Given the description of an element on the screen output the (x, y) to click on. 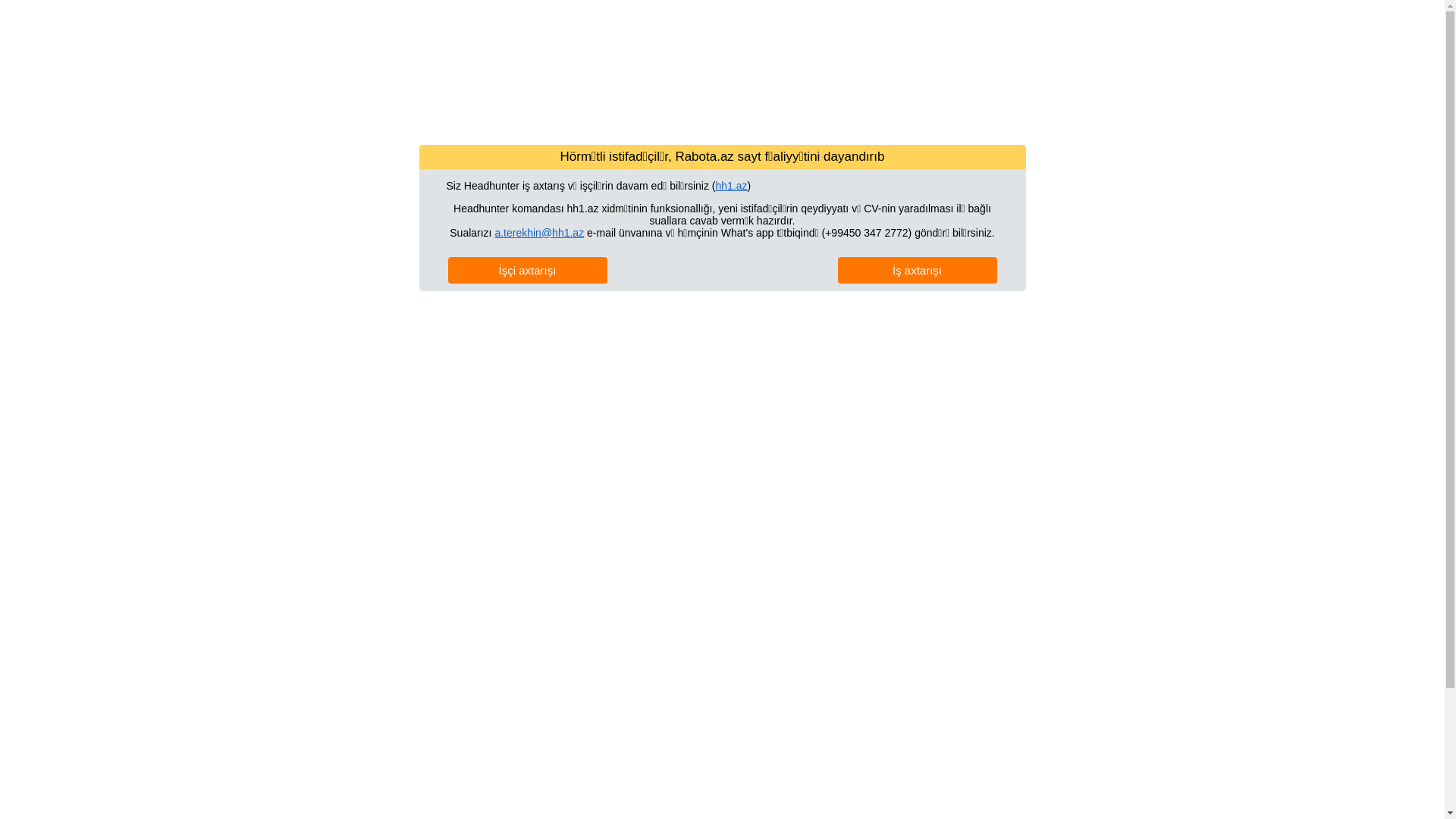
a.terekhin@hh1.az Element type: text (538, 231)
hh1.az Element type: text (731, 184)
